Given the description of an element on the screen output the (x, y) to click on. 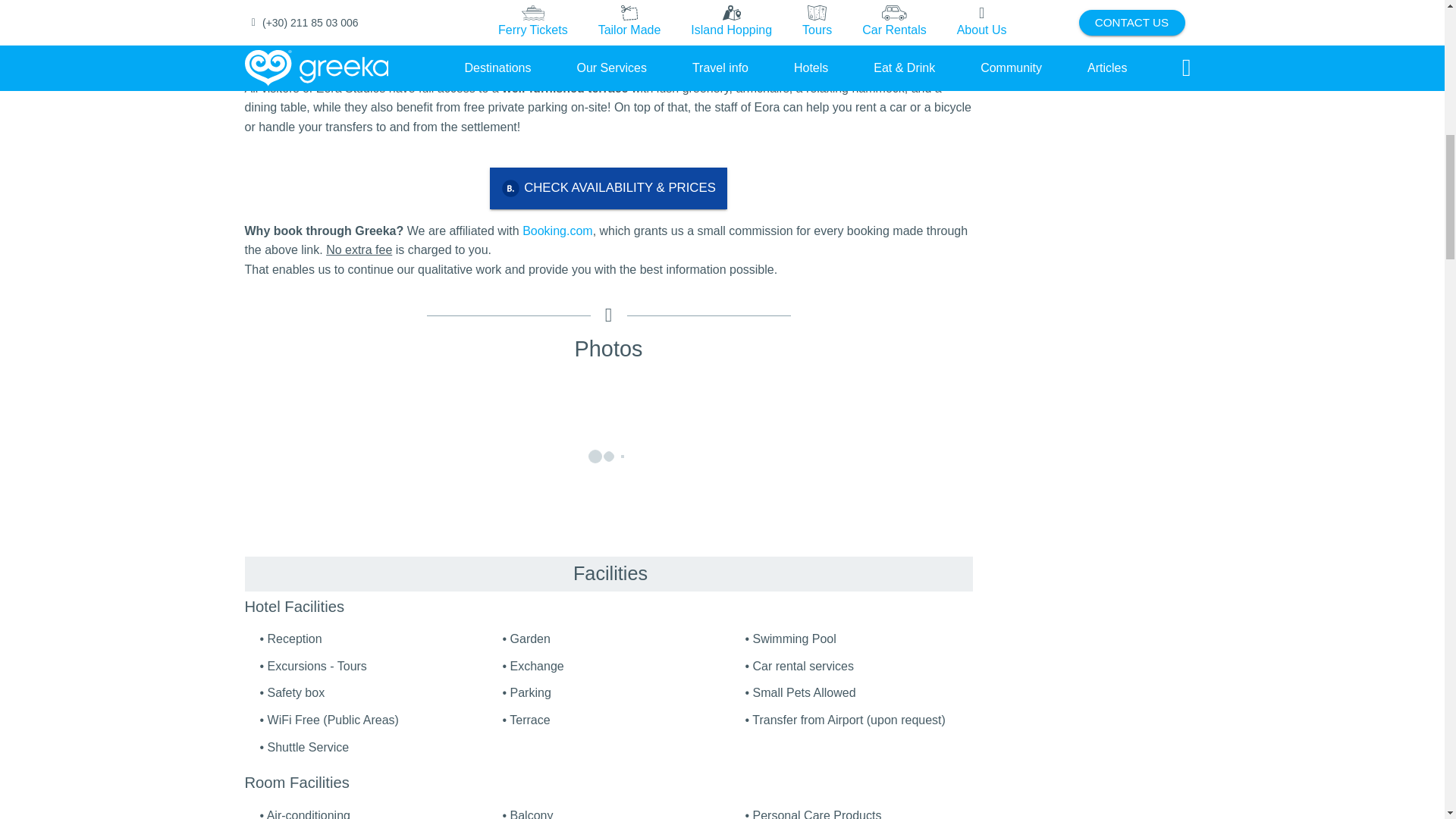
Book at Eora with Booking.com (607, 188)
